Given the description of an element on the screen output the (x, y) to click on. 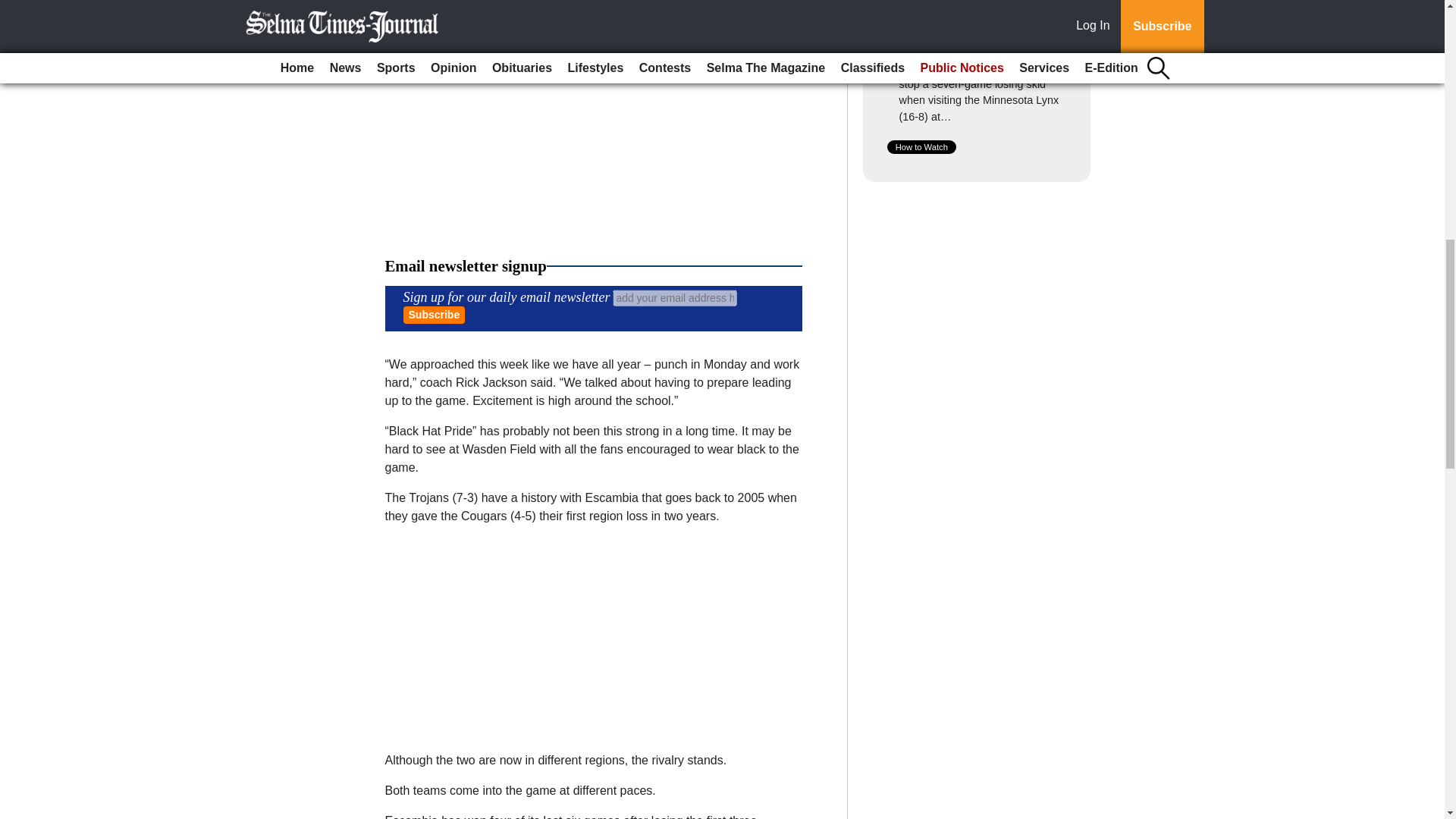
How to Watch (921, 146)
Subscribe (434, 314)
Subscribe (434, 314)
